Given the description of an element on the screen output the (x, y) to click on. 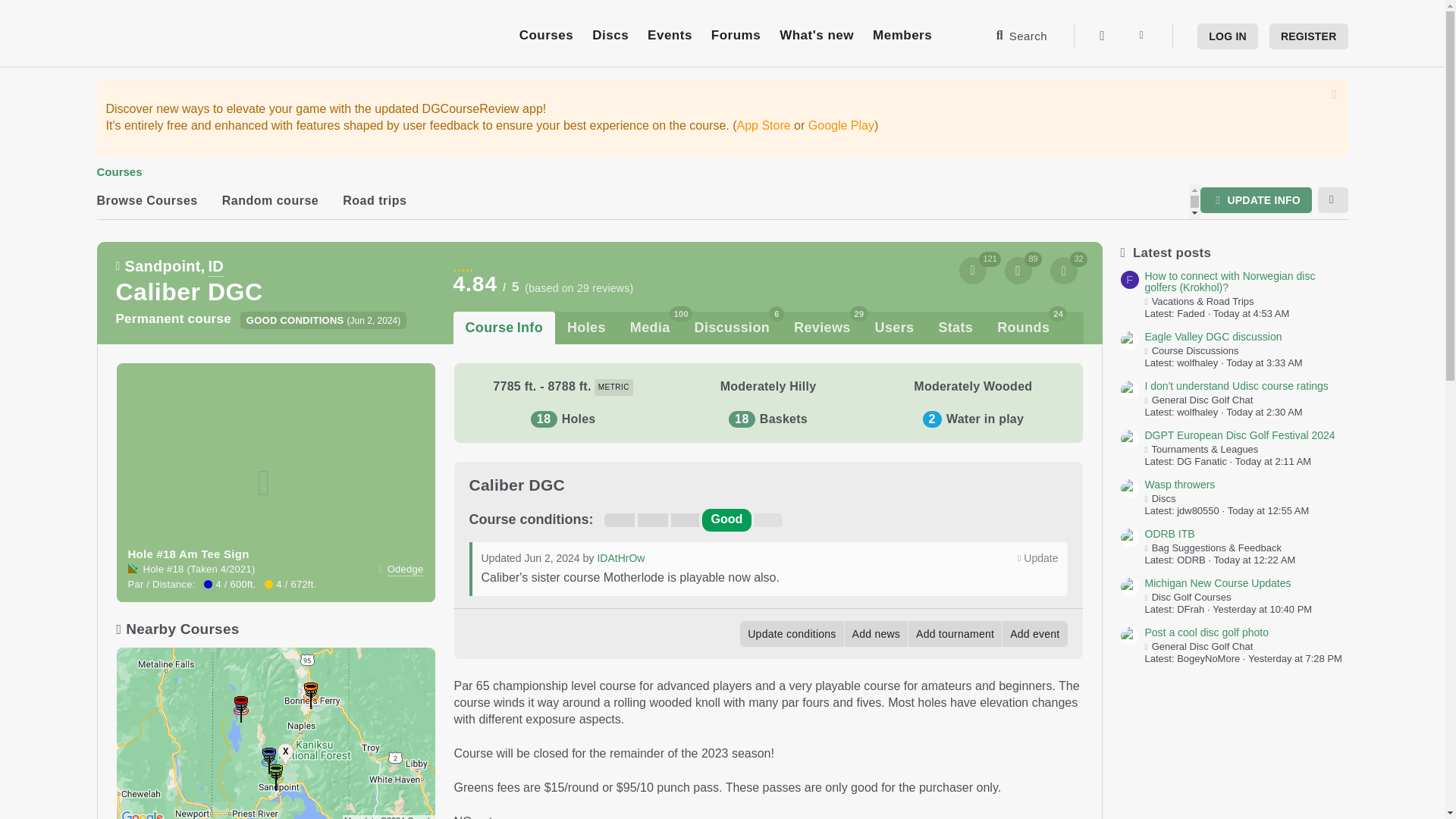
Courses (546, 35)
DGCourseReview (200, 36)
Events (903, 633)
Discs (670, 35)
